Given the description of an element on the screen output the (x, y) to click on. 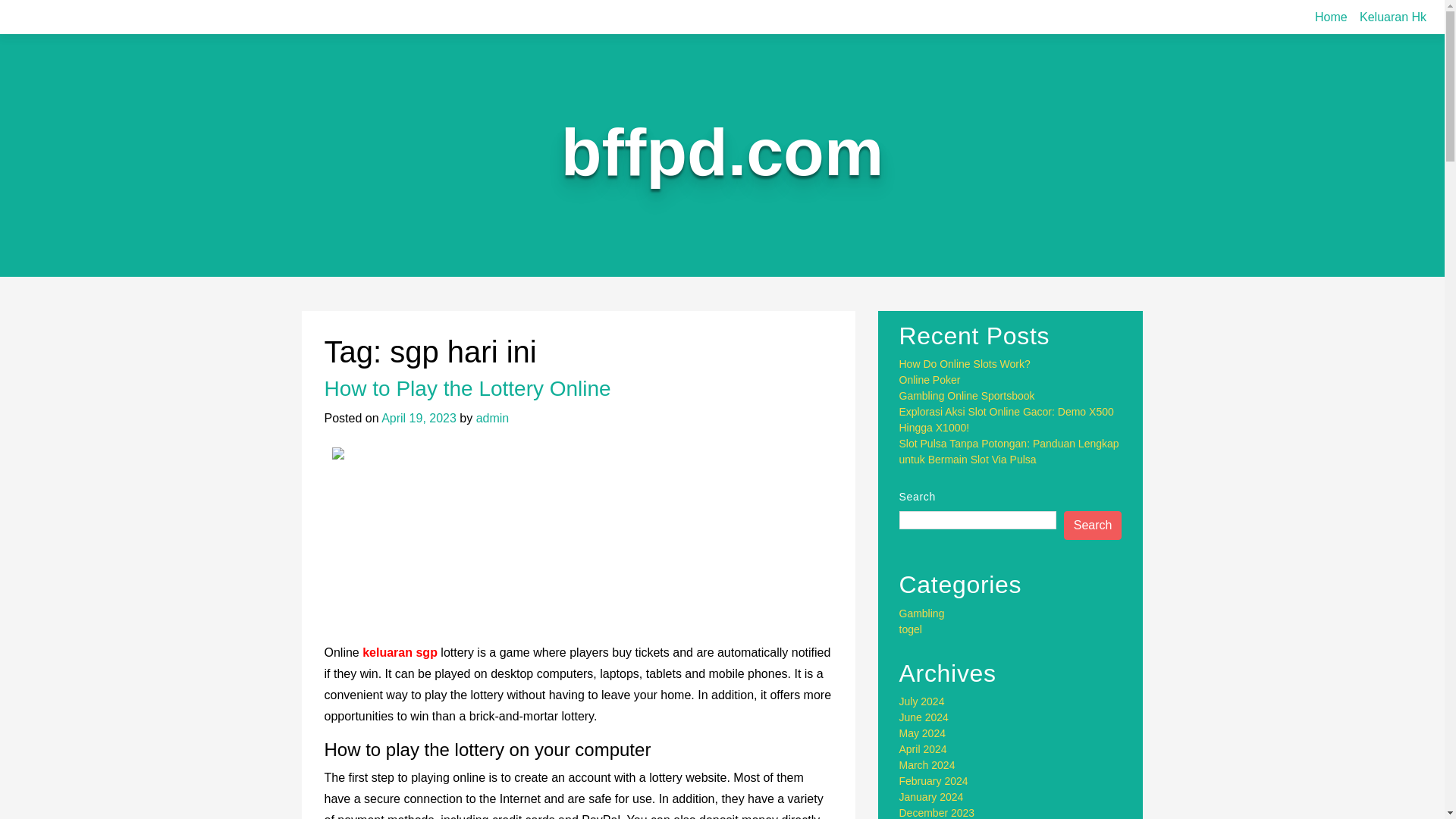
admin (492, 418)
How to Play the Lottery Online (467, 388)
Keluaran Hk (1393, 16)
April 19, 2023 (419, 418)
Home (1331, 16)
keluaran sgp (400, 652)
Keluaran Hk (1393, 16)
Home (1331, 16)
